Given the description of an element on the screen output the (x, y) to click on. 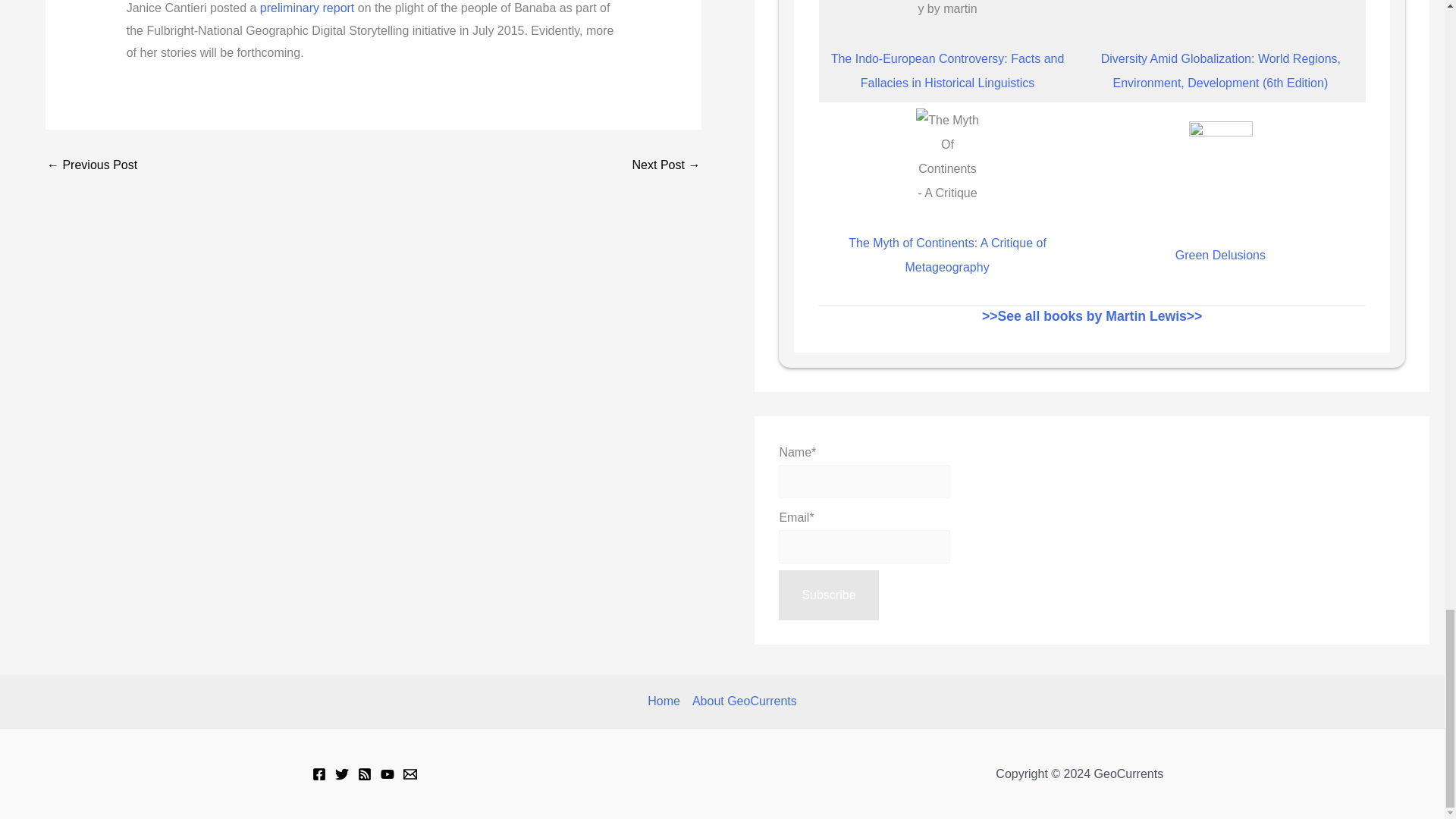
Subscribe (827, 594)
Indo-European-Controversy by Asya Pereltsvaig Martin Lewis (947, 11)
The Recent Gilbertese Settlement of the Line Islands (665, 164)
diversity amid globalization martin lewis (1220, 11)
